Given the description of an element on the screen output the (x, y) to click on. 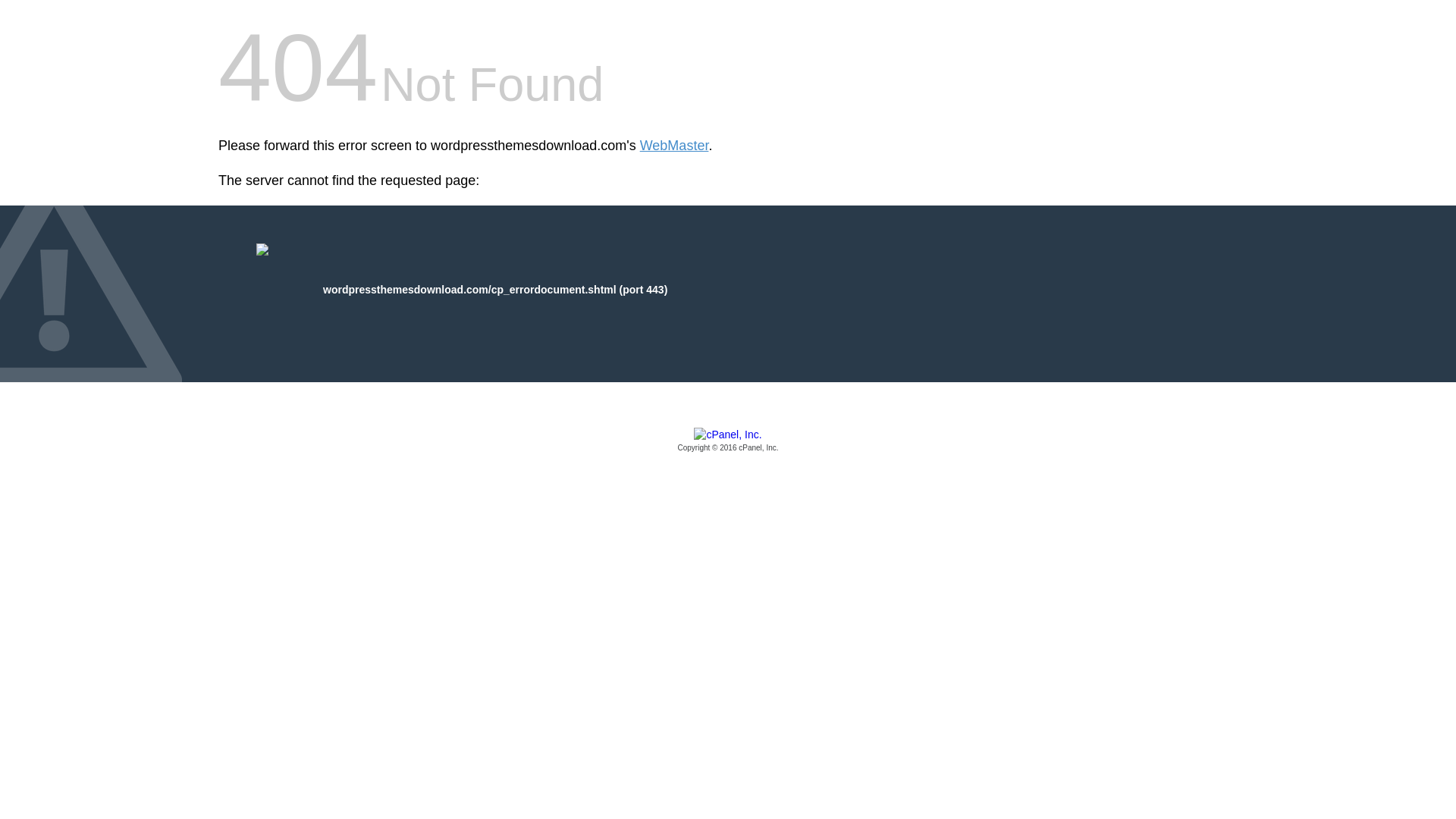
cPanel, Inc. (727, 440)
WebMaster (674, 145)
